Given the description of an element on the screen output the (x, y) to click on. 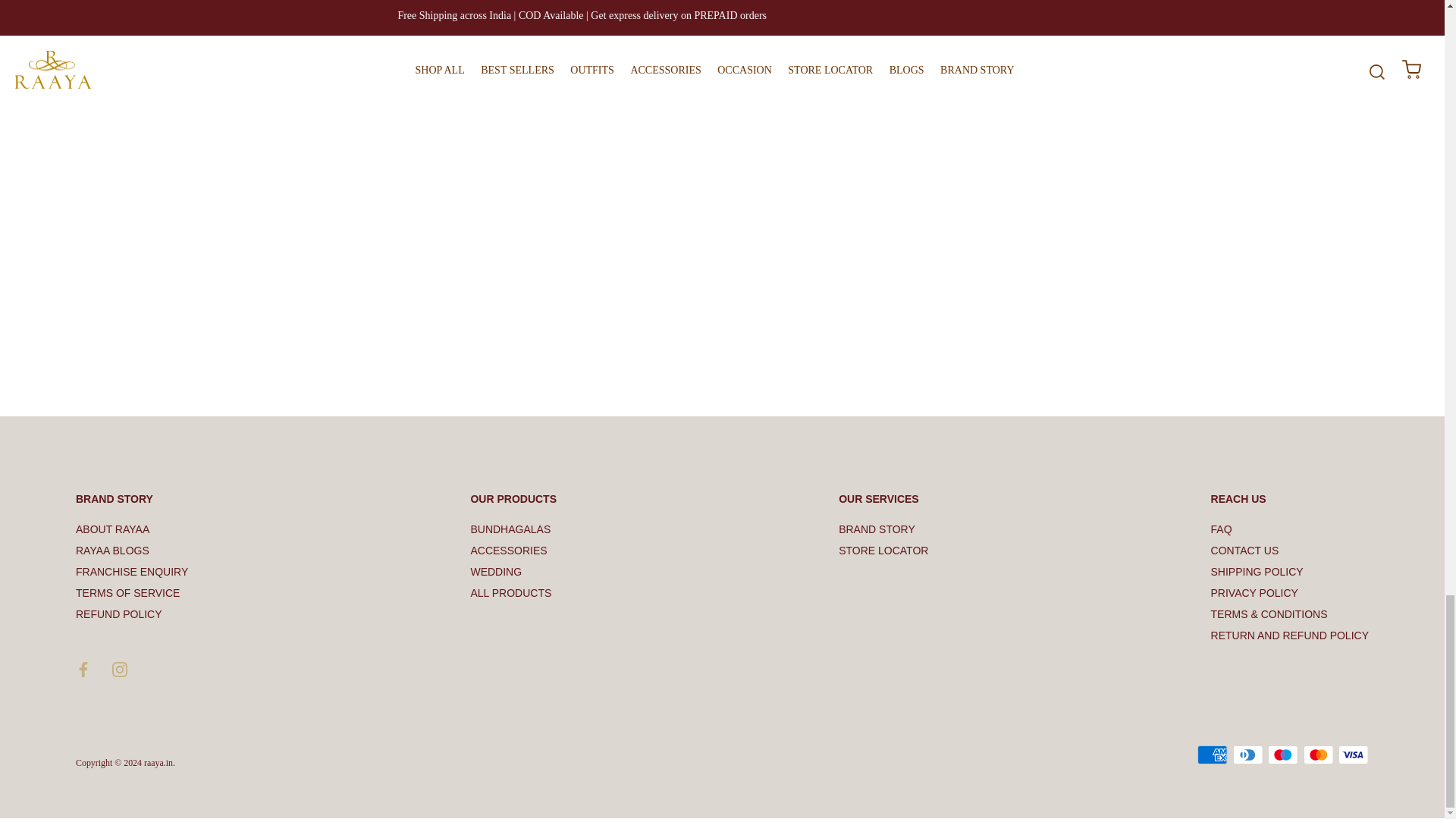
American Express (1211, 754)
Visa (1353, 754)
Diners Club (1247, 754)
Mastercard (1318, 754)
INSTAGRAM (120, 669)
Maestro (1282, 754)
